Given the description of an element on the screen output the (x, y) to click on. 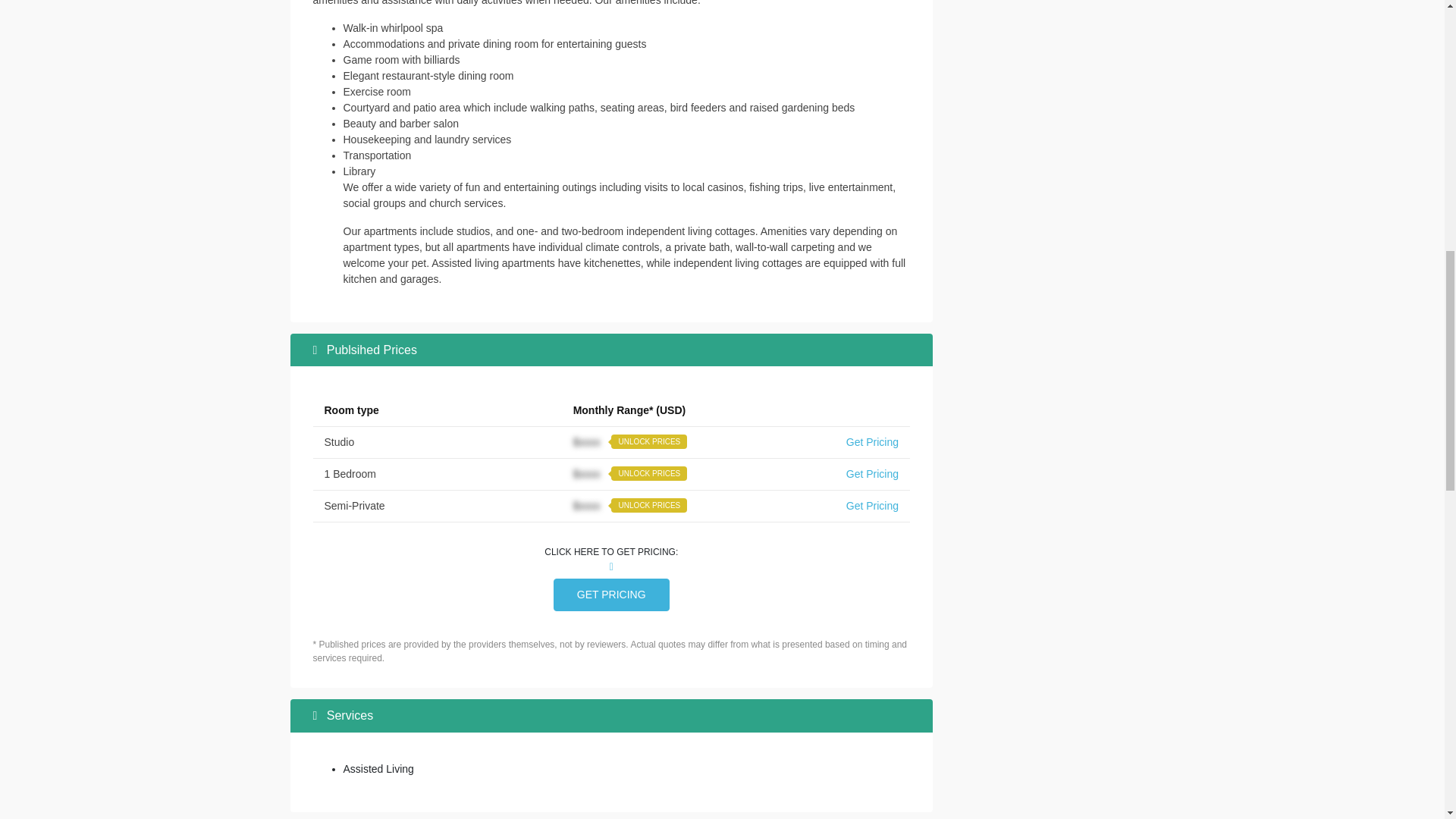
Get Pricing (871, 473)
GET PRICING (611, 594)
UNLOCK PRICES (649, 473)
Get Pricing (871, 441)
Get Pricing (871, 505)
UNLOCK PRICES (649, 441)
UNLOCK PRICES (649, 504)
